Given the description of an element on the screen output the (x, y) to click on. 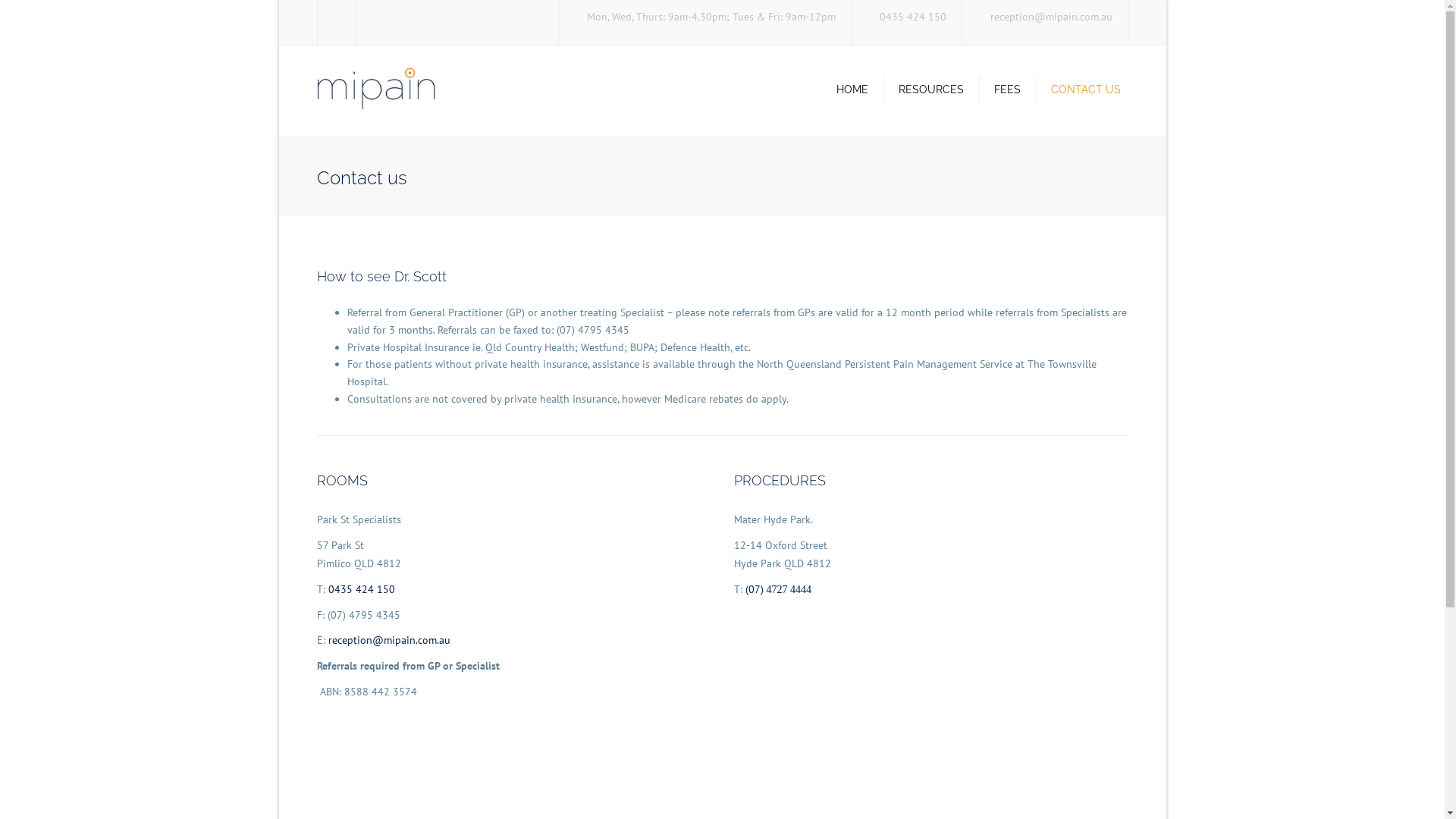
reception@mipain.com.au Element type: text (1051, 11)
FEES Element type: text (1006, 89)
0435 424 150 Element type: text (912, 11)
CONTACT US Element type: text (1085, 89)
RESOURCES Element type: text (930, 89)
HOME Element type: text (855, 89)
reception@mipain.com.au Element type: text (388, 639)
(07) 4727 4444 Element type: text (777, 589)
0435 424 150 Element type: text (360, 589)
